Given the description of an element on the screen output the (x, y) to click on. 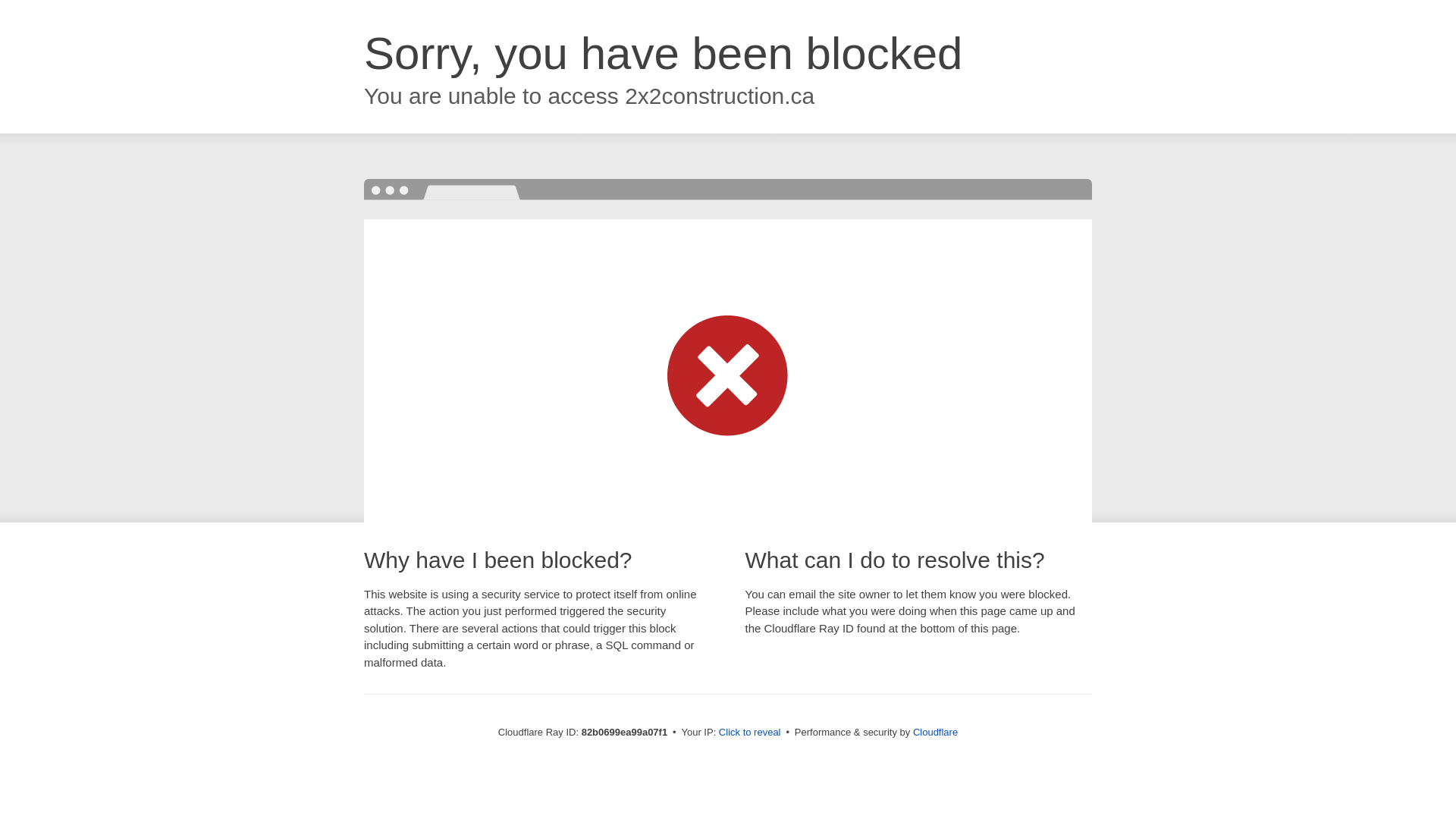
Cloudflare Element type: text (935, 731)
Click to reveal Element type: text (749, 732)
